Given the description of an element on the screen output the (x, y) to click on. 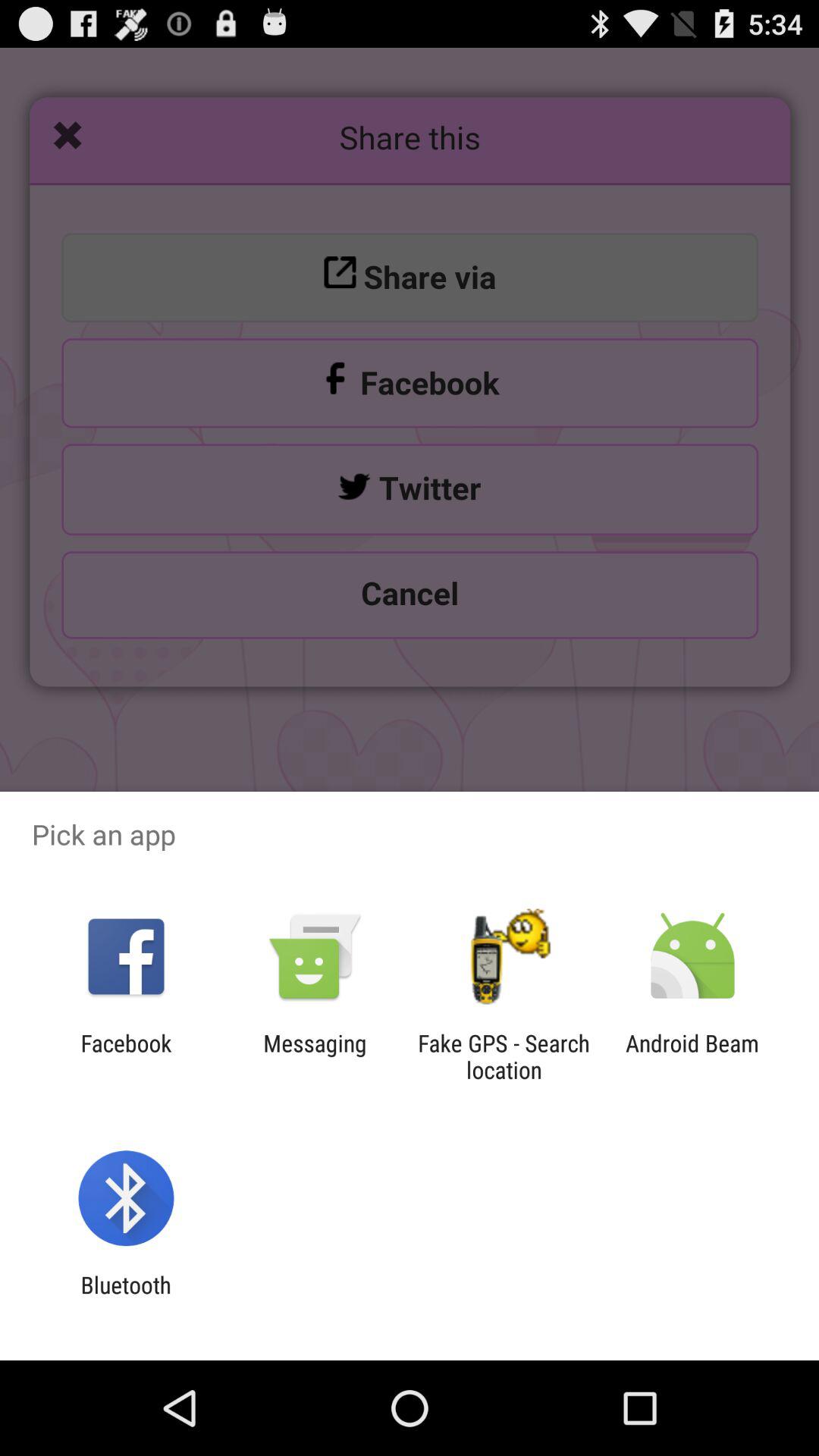
launch the icon to the left of the android beam (503, 1056)
